Given the description of an element on the screen output the (x, y) to click on. 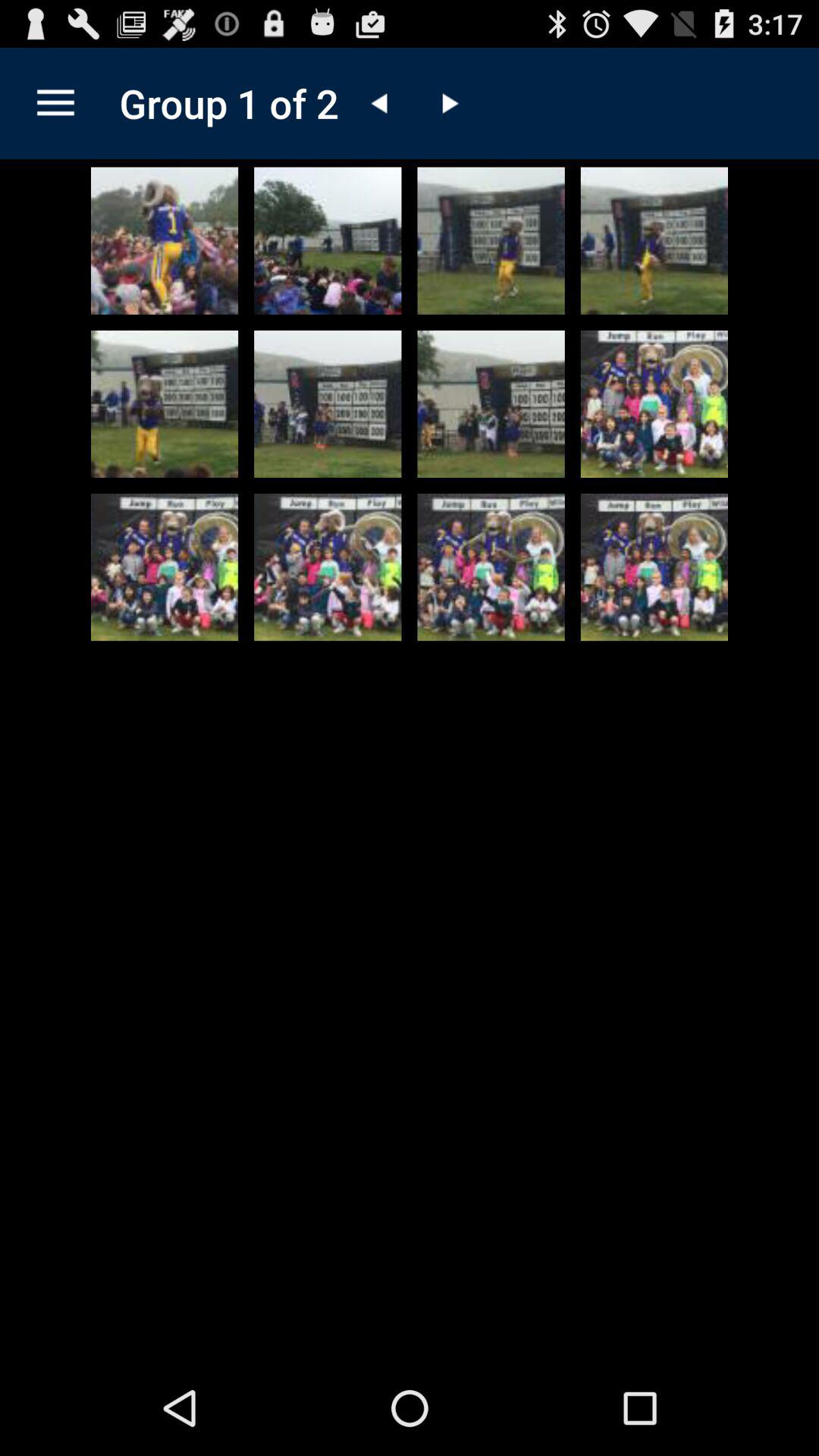
view this photo (327, 240)
